Given the description of an element on the screen output the (x, y) to click on. 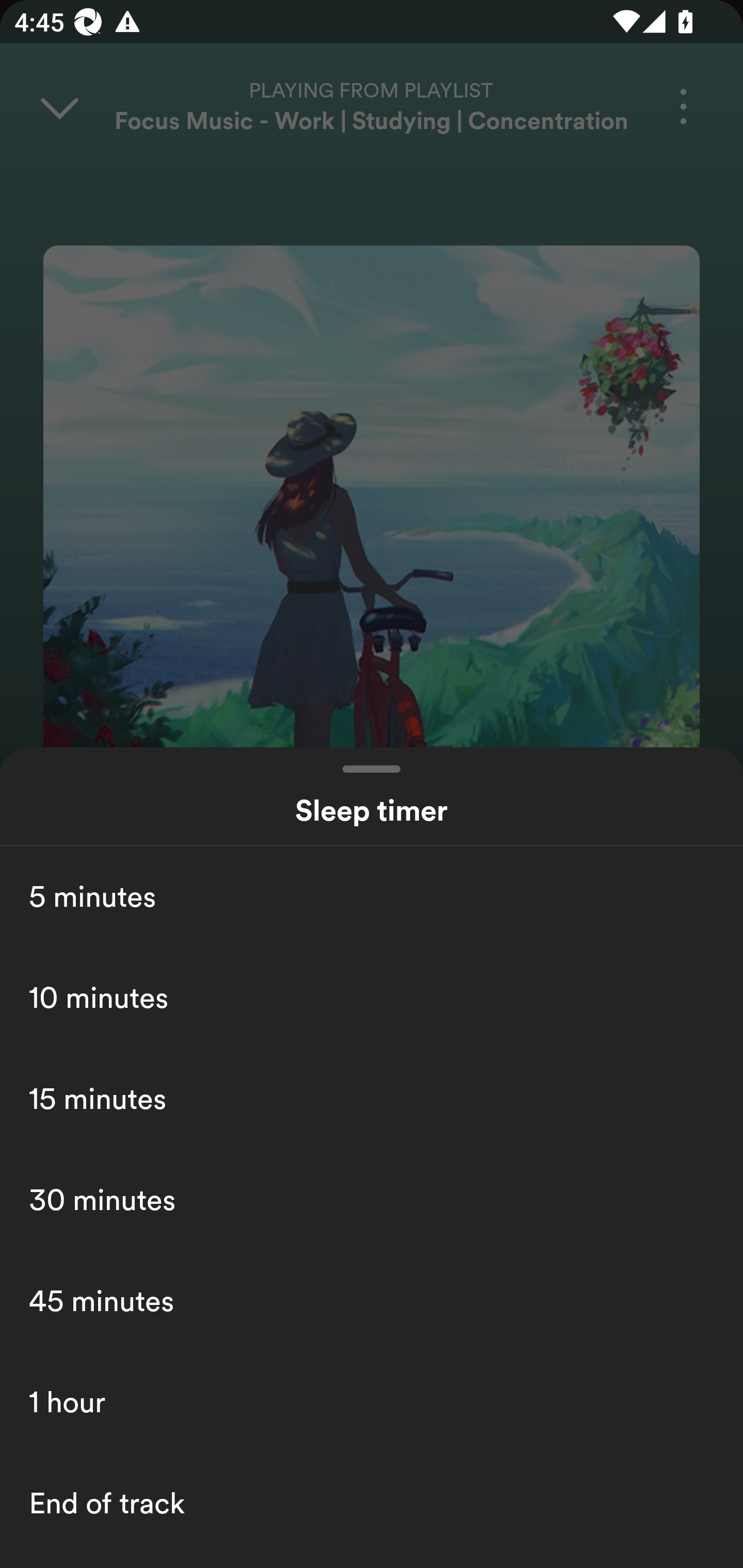
5 minutes (371, 896)
10 minutes (371, 997)
15 minutes (371, 1098)
30 minutes (371, 1199)
45 minutes (371, 1300)
1 hour (371, 1401)
End of track (371, 1502)
